Given the description of an element on the screen output the (x, y) to click on. 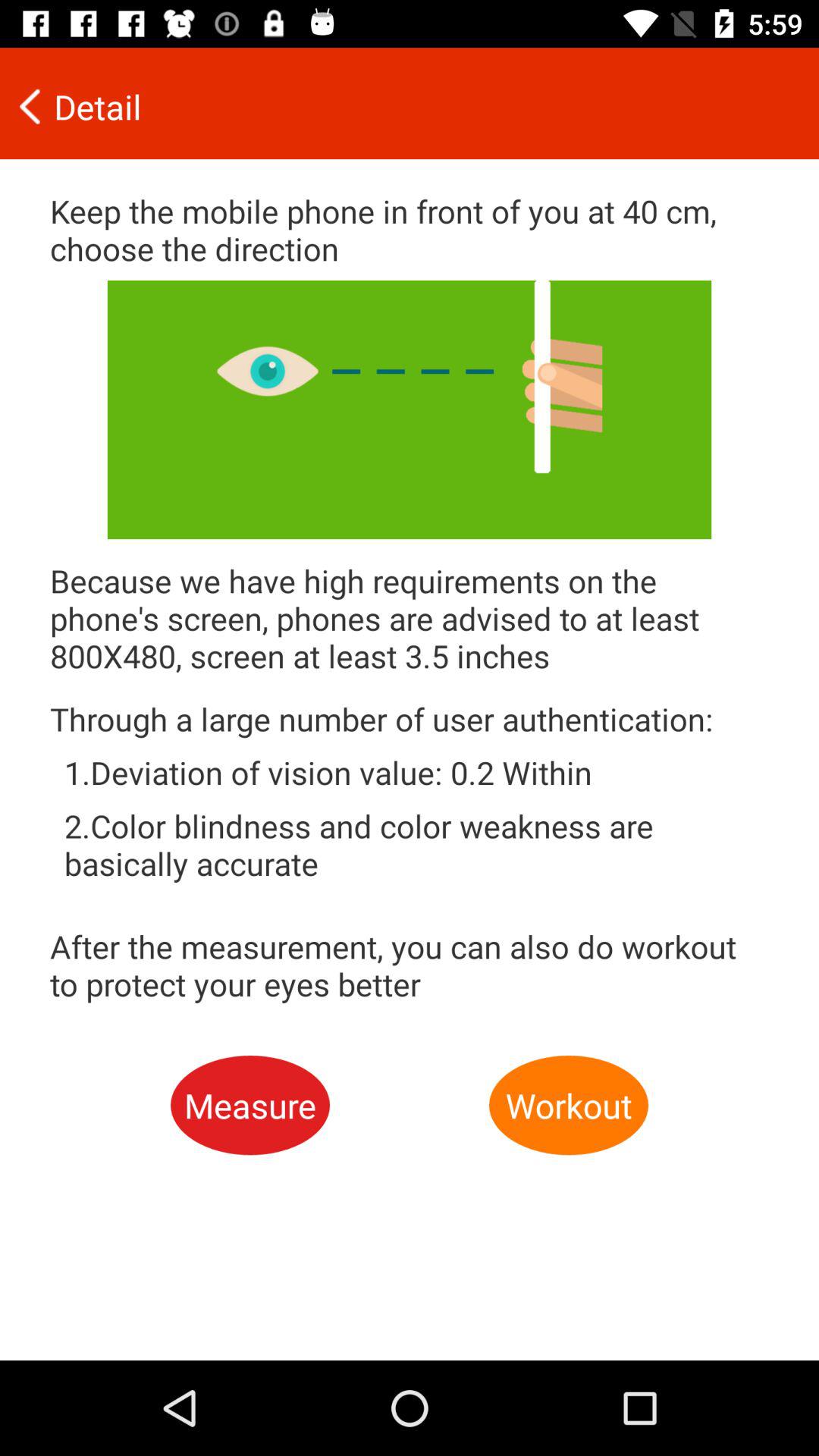
flip until detail item (399, 106)
